Given the description of an element on the screen output the (x, y) to click on. 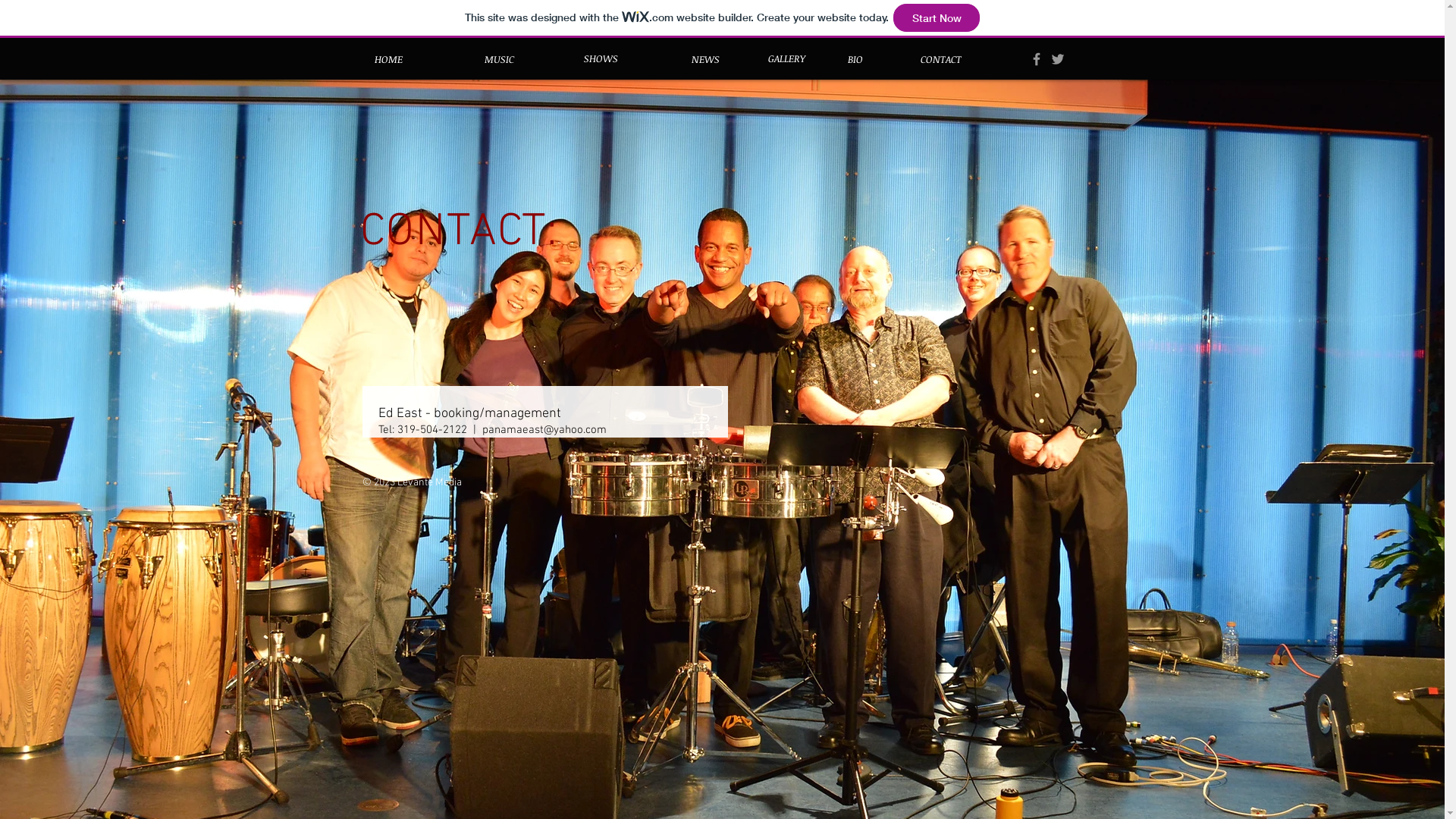
CONTACT Element type: text (939, 58)
HOME Element type: text (388, 58)
NEWS Element type: text (704, 58)
GALLERY Element type: text (786, 58)
SHOWS Element type: text (600, 58)
panamaeast@yahoo.com Element type: text (544, 429)
MUSIC Element type: text (498, 58)
BIO Element type: text (855, 58)
